Given the description of an element on the screen output the (x, y) to click on. 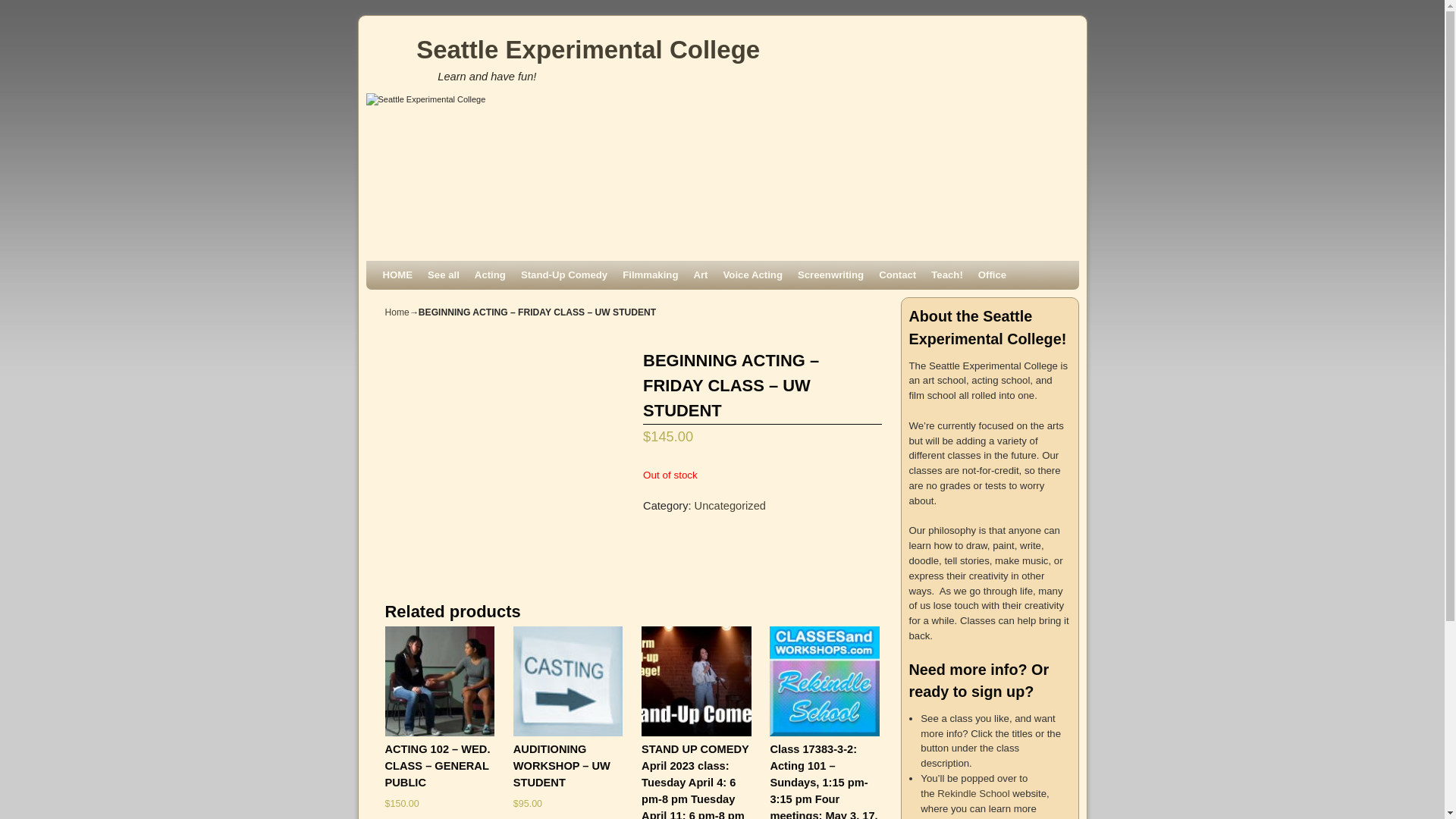
Filmmaking Element type: text (650, 274)
Office Element type: text (991, 274)
Contact Element type: text (897, 274)
Skip to secondary content Element type: text (413, 266)
Acting Element type: text (490, 274)
Art Element type: text (700, 274)
Uncategorized Element type: text (729, 505)
HOME Element type: text (397, 274)
Skip to primary content Element type: text (408, 266)
Home Element type: text (397, 312)
See all Element type: text (443, 274)
Teach! Element type: text (946, 274)
Stand-Up Comedy Element type: text (564, 274)
Screenwriting Element type: text (830, 274)
Rekindle School Element type: text (973, 793)
Seattle Experimental College Element type: text (587, 49)
Voice Acting Element type: text (752, 274)
